Given the description of an element on the screen output the (x, y) to click on. 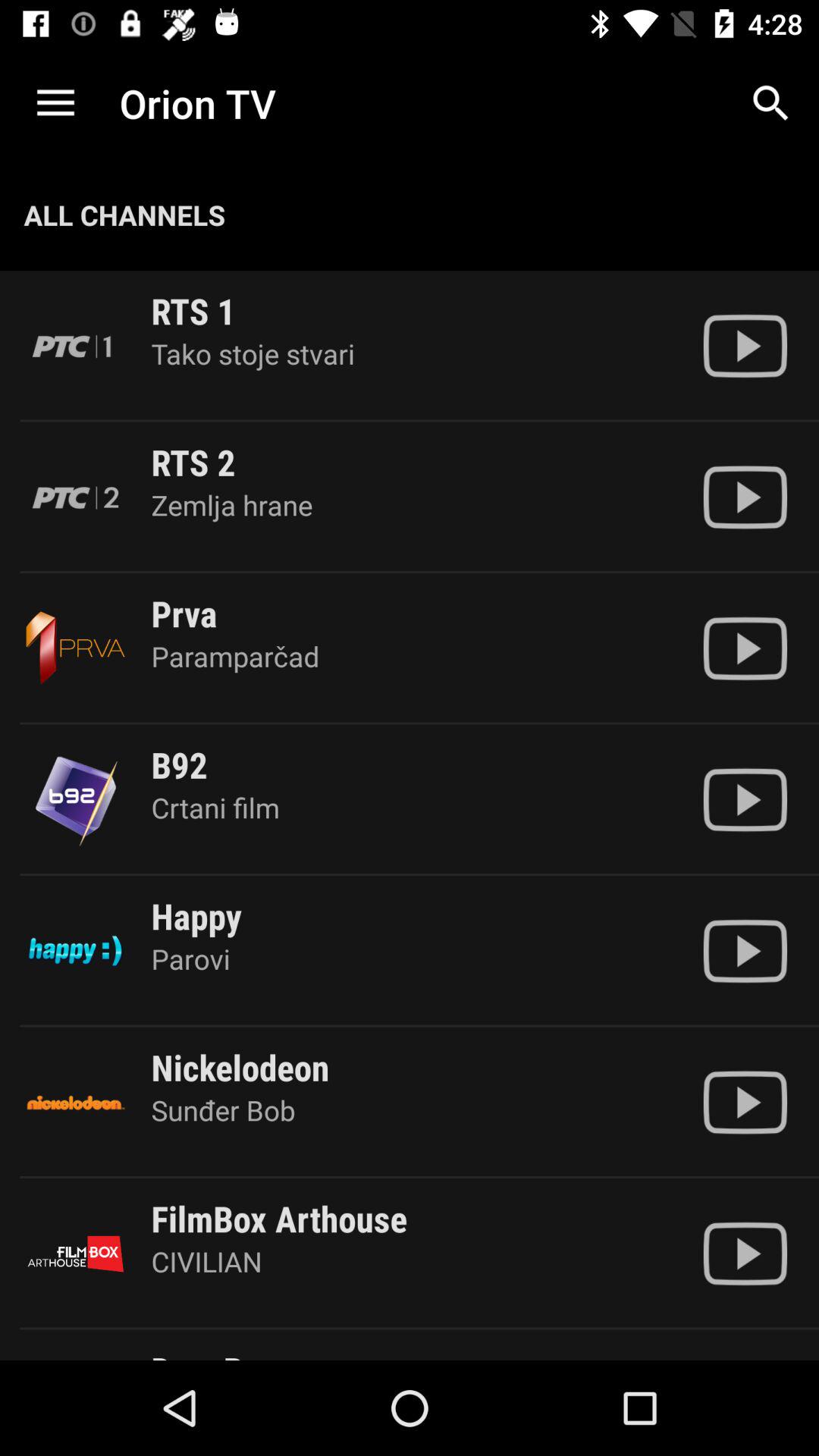
play video (745, 799)
